Given the description of an element on the screen output the (x, y) to click on. 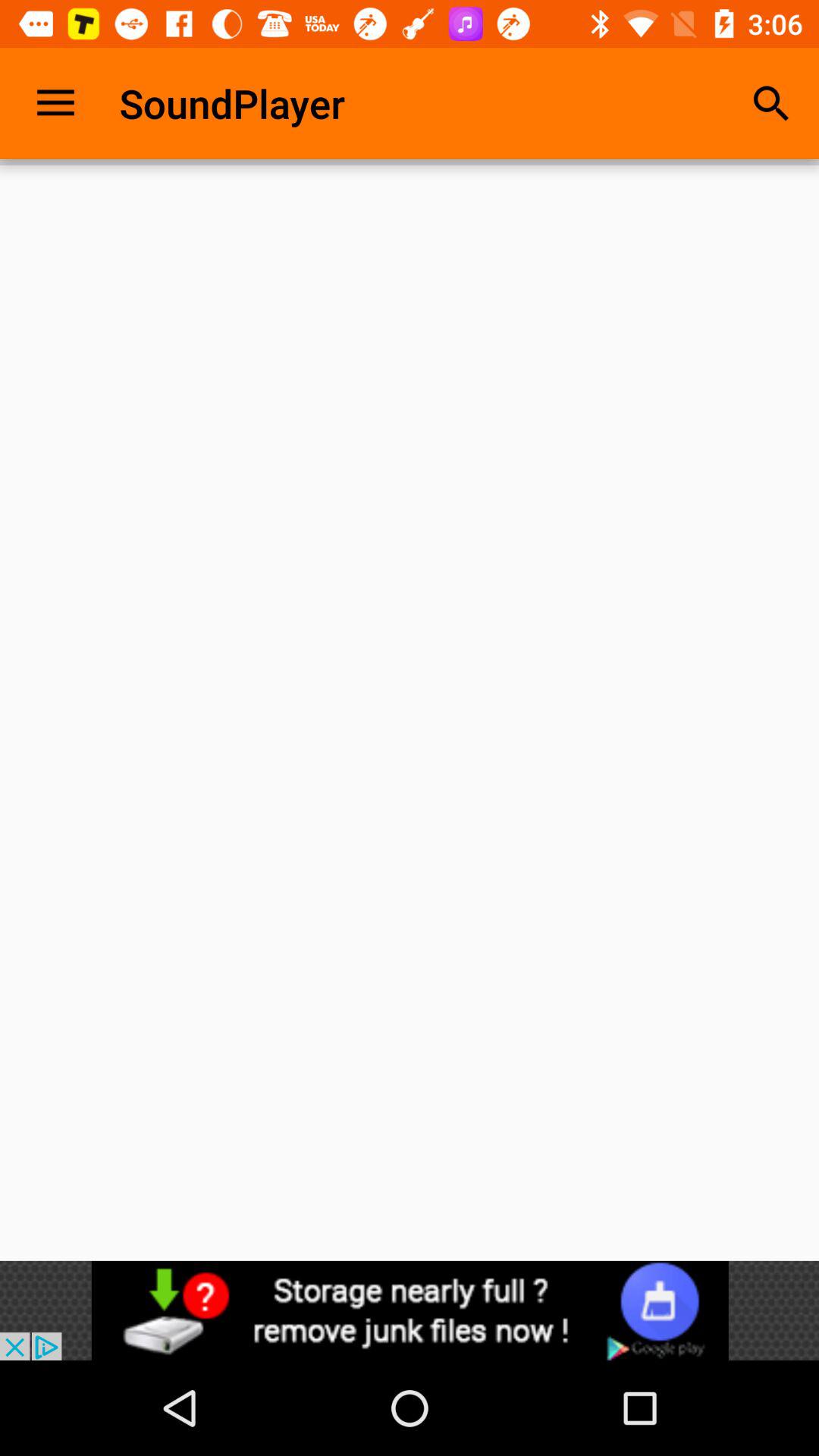
advertisement (409, 1310)
